Given the description of an element on the screen output the (x, y) to click on. 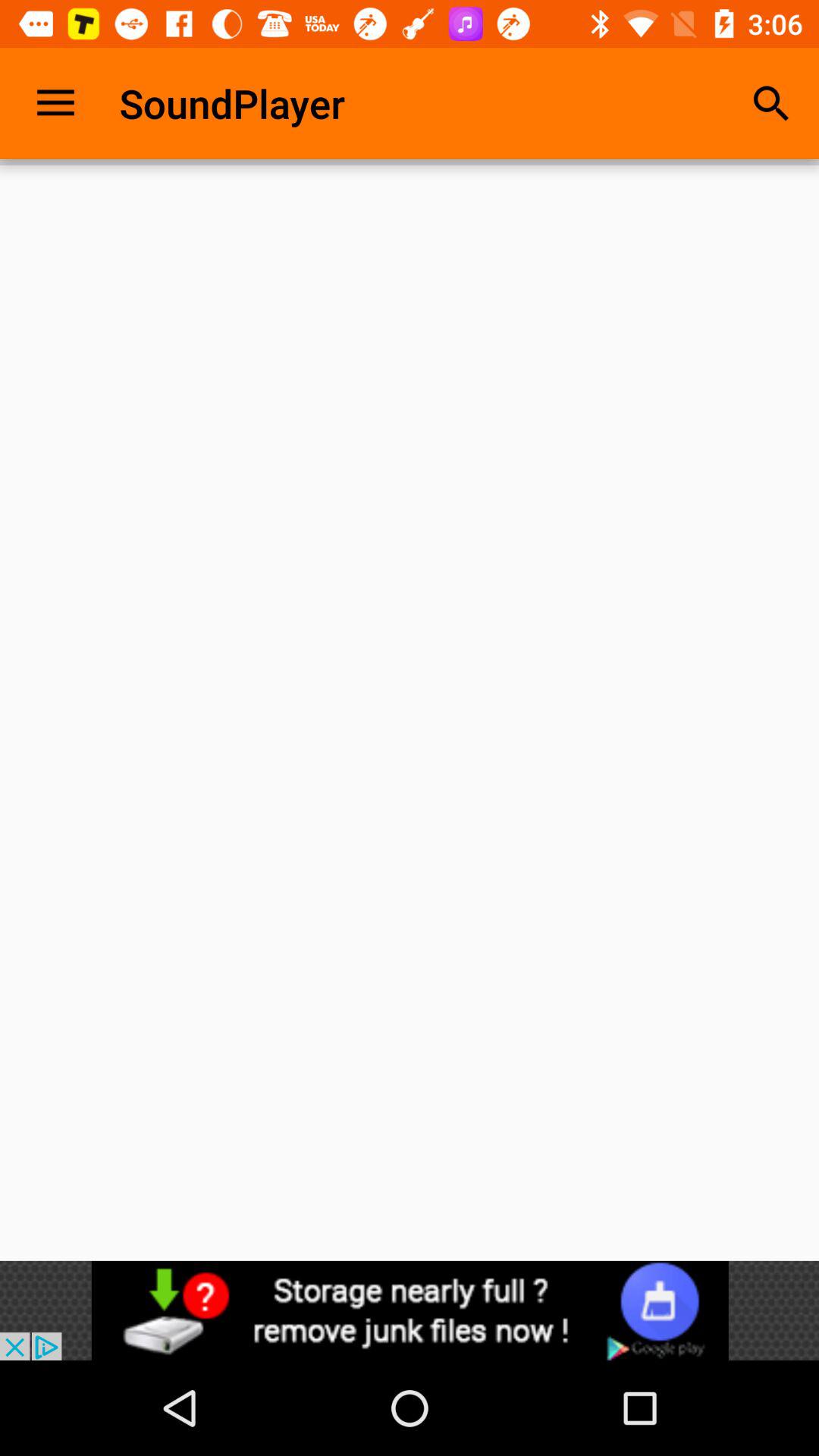
advertisement (409, 1310)
